Given the description of an element on the screen output the (x, y) to click on. 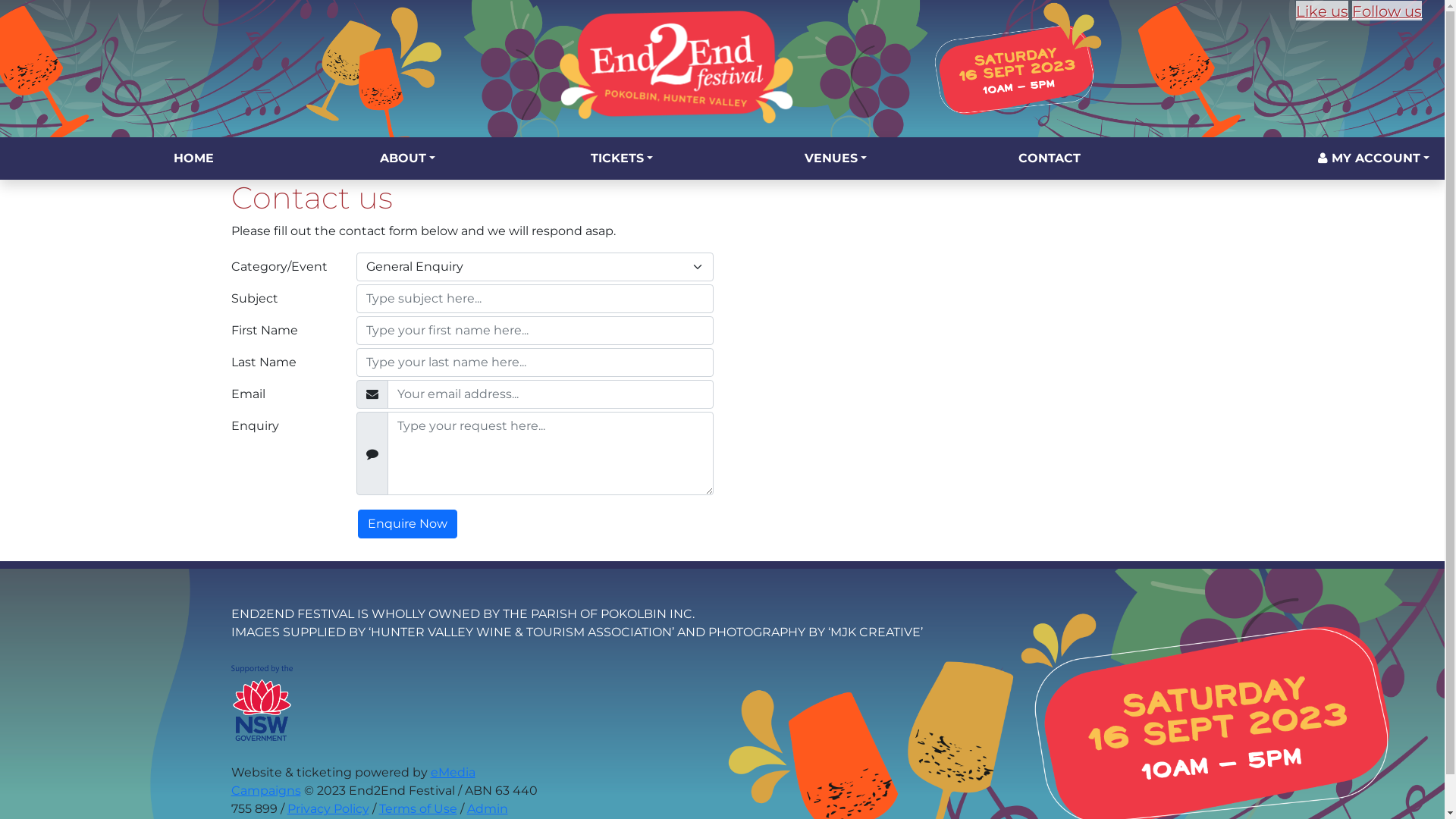
HOME Element type: text (193, 158)
MY ACCOUNT Element type: text (1373, 158)
Follow us Element type: text (1386, 10)
Privacy Policy Element type: text (327, 808)
CONTACT Element type: text (1049, 158)
Like us Element type: text (1321, 10)
Enquire Now Element type: text (407, 523)
Admin Element type: text (487, 808)
TICKETS Element type: text (621, 158)
eMedia Campaigns Element type: text (352, 781)
VENUES Element type: text (835, 158)
Terms of Use Element type: text (418, 808)
ABOUT Element type: text (407, 158)
